Given the description of an element on the screen output the (x, y) to click on. 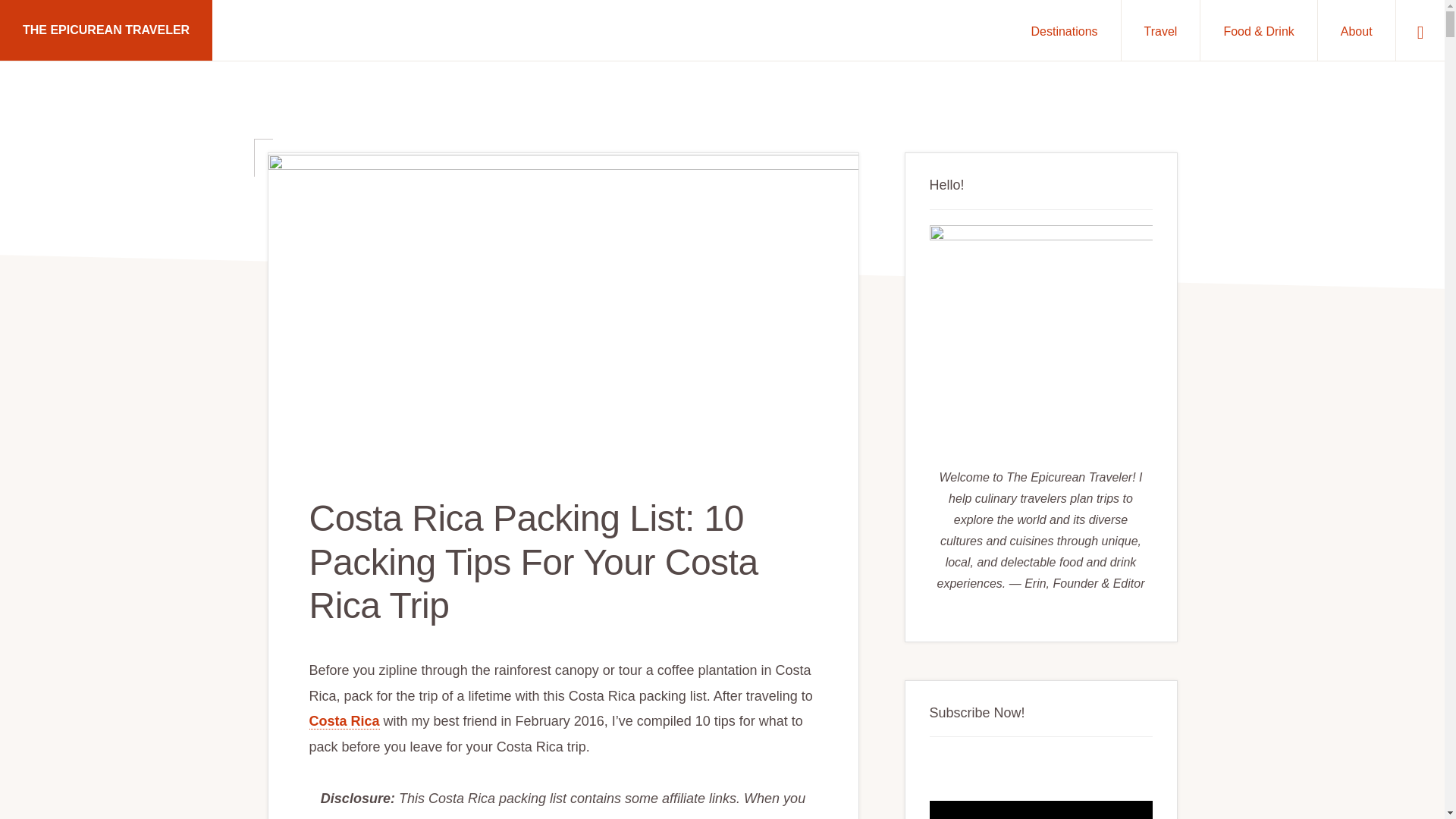
Costa Rica (344, 721)
Destinations (1065, 30)
THE EPICUREAN TRAVELER (106, 30)
About (1355, 30)
Travel (1160, 30)
Hello! (1041, 336)
